Given the description of an element on the screen output the (x, y) to click on. 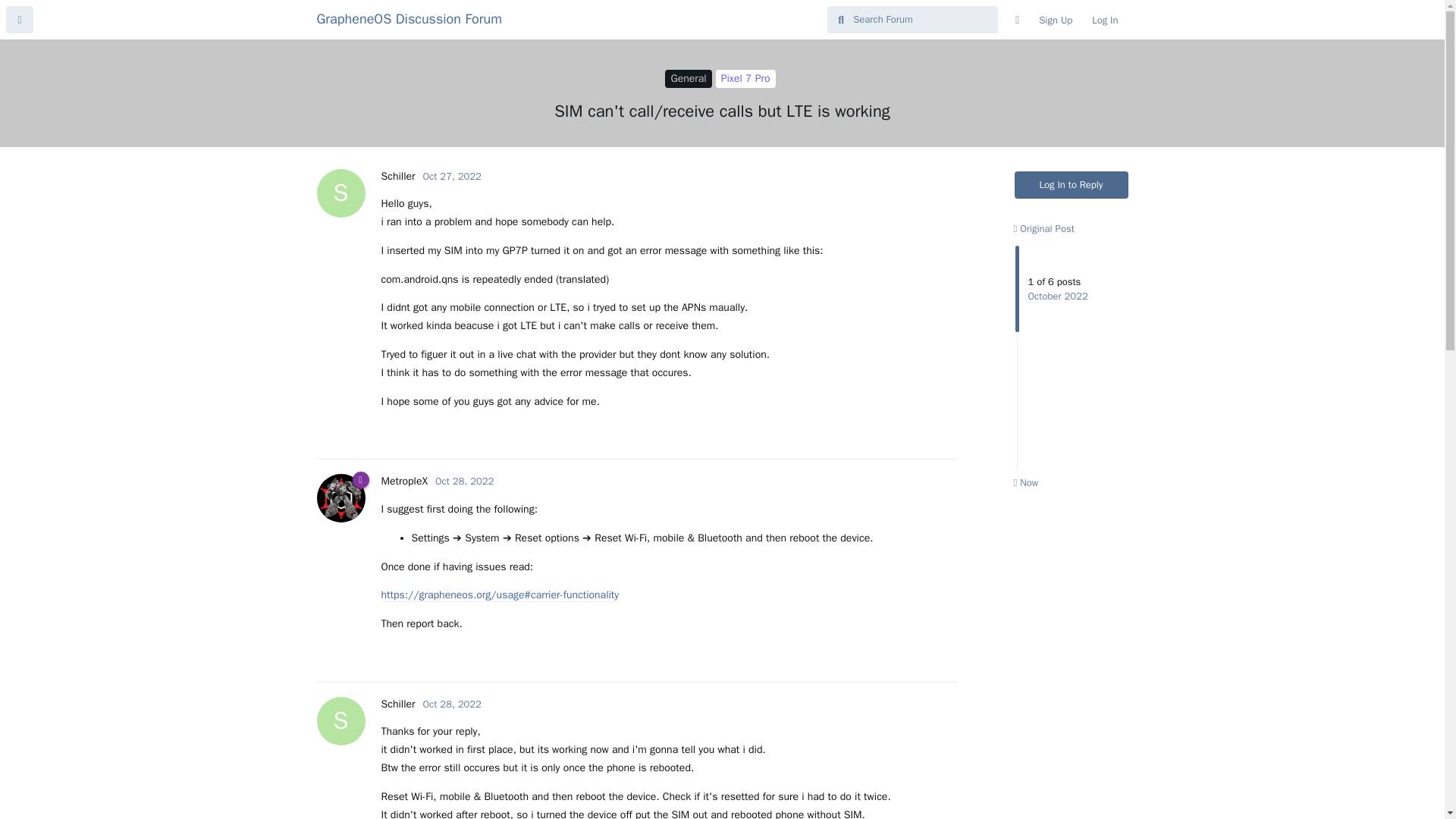
Oct 28, 2022 (452, 703)
GrapheneOS Discussion Forum (409, 18)
Log In to Reply (1071, 185)
Pixel 7 Pro (746, 78)
Friday, October 28, 2022 1:42 AM (464, 481)
Oct 28, 2022 (464, 481)
Log In (1103, 19)
General (688, 78)
Sign Up (1055, 19)
Thursday, October 27, 2022 11:34 PM (452, 175)
Oct 27, 2022 (452, 175)
MetropleX (404, 481)
Now (1025, 481)
Original Post (1043, 228)
Friday, October 28, 2022 2:29 AM (452, 703)
